Given the description of an element on the screen output the (x, y) to click on. 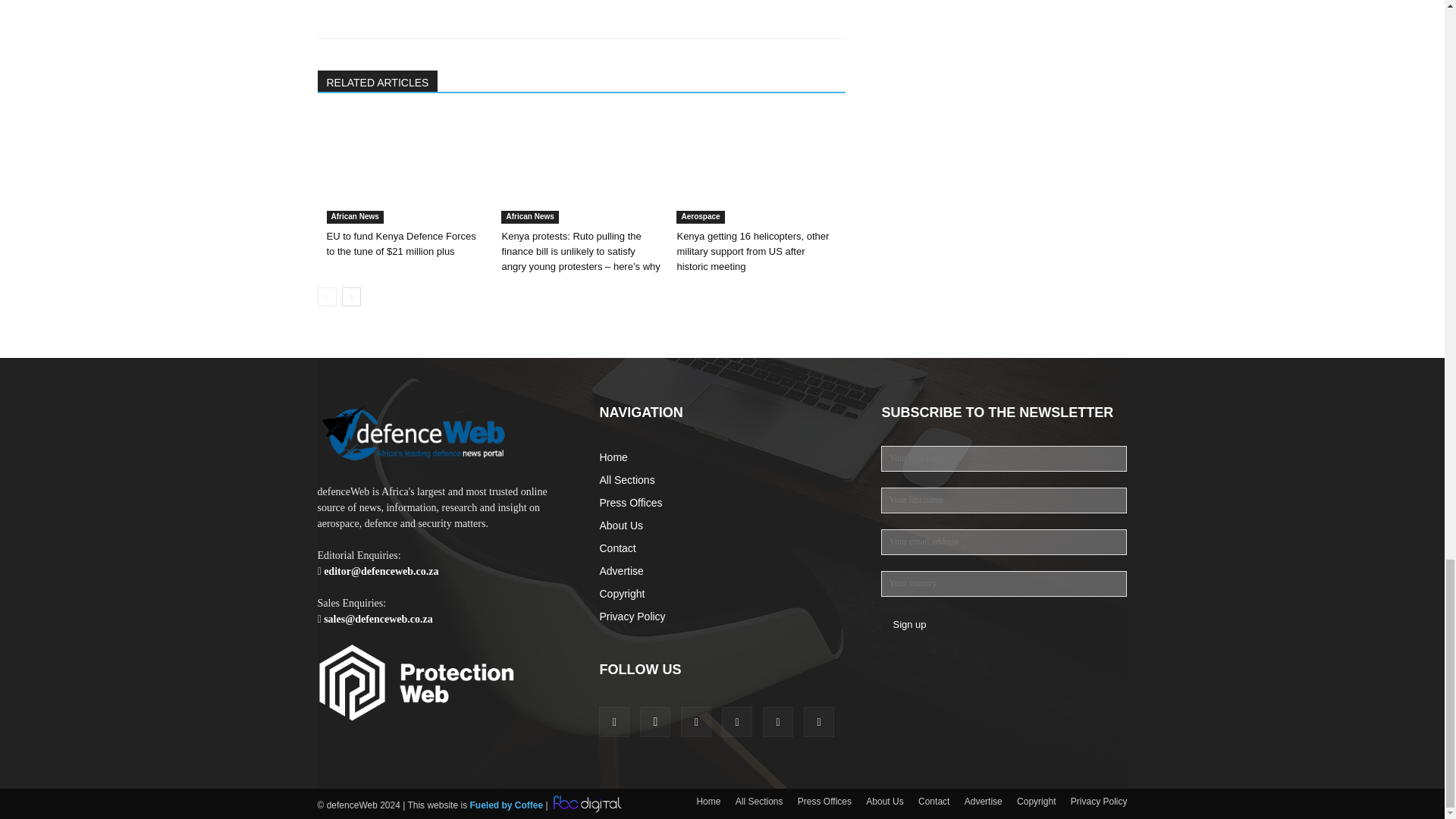
Sign up (908, 624)
